Given the description of an element on the screen output the (x, y) to click on. 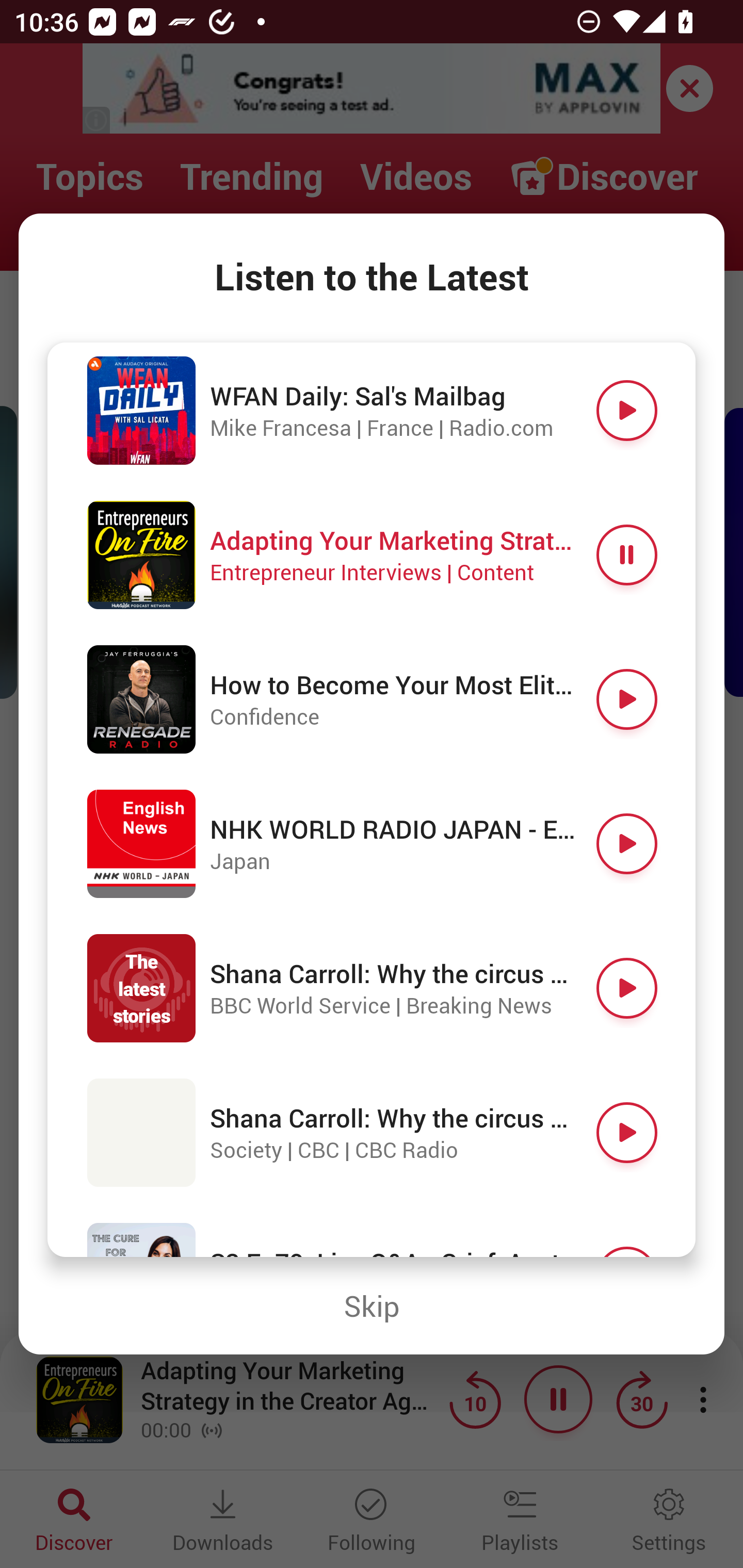
Skip (371, 1305)
